Given the description of an element on the screen output the (x, y) to click on. 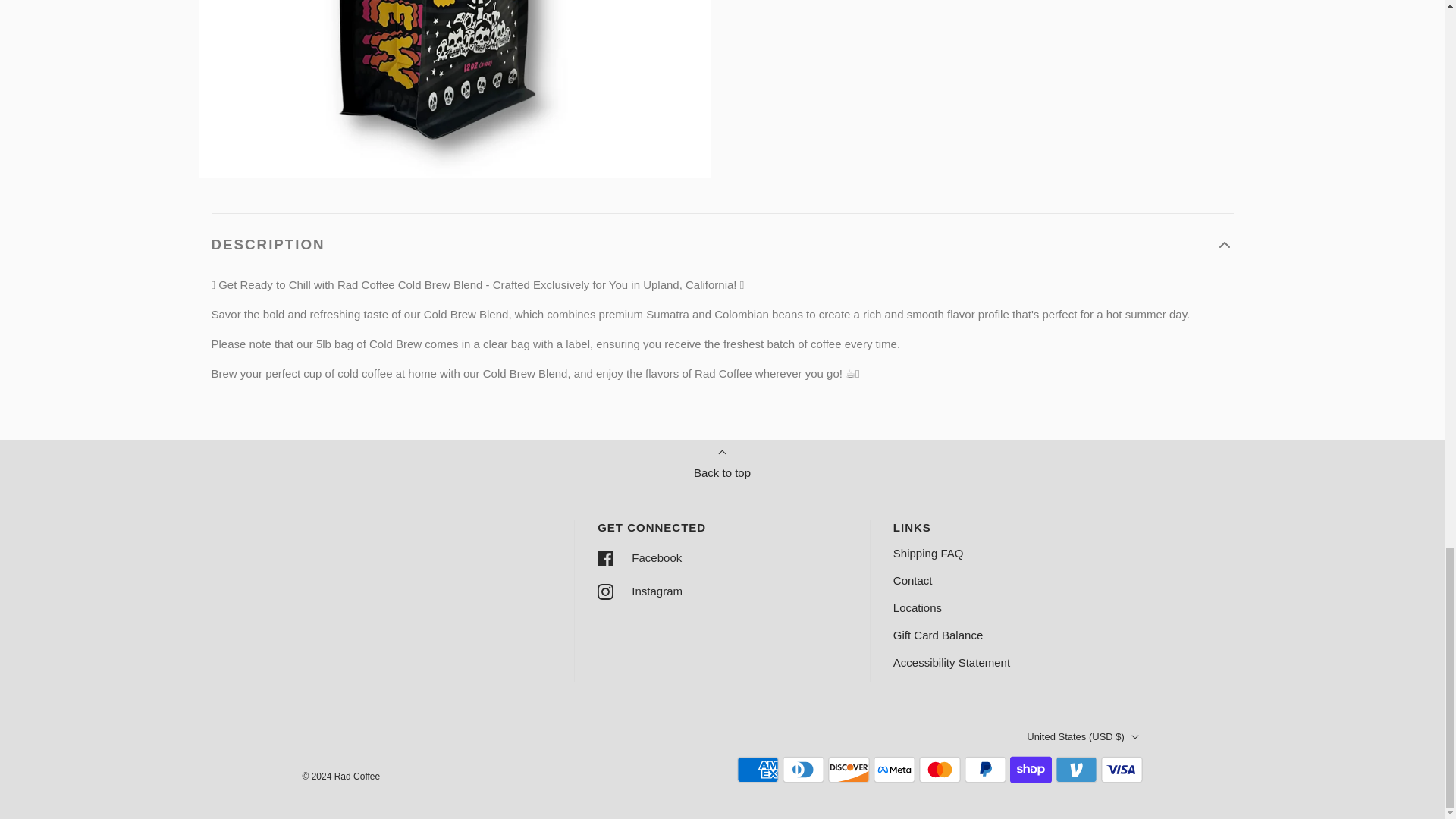
Discover (848, 769)
American Express (757, 769)
PayPal (984, 769)
Diners Club (803, 769)
Facebook icon (604, 558)
Instagram icon (604, 591)
Mastercard (939, 769)
Shop Pay (1030, 769)
Meta Pay (894, 769)
